Given the description of an element on the screen output the (x, y) to click on. 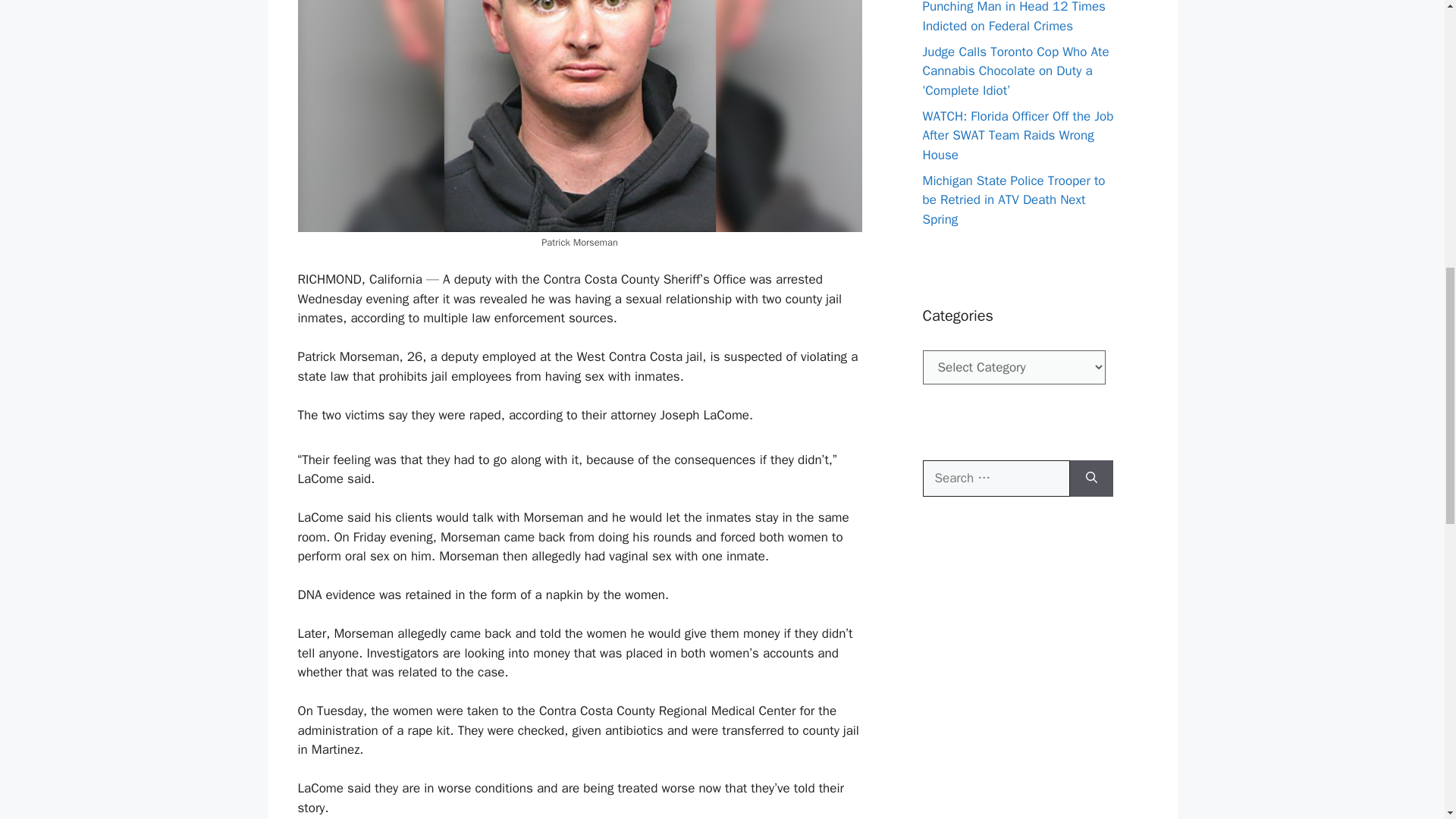
Search for: (994, 478)
